Given the description of an element on the screen output the (x, y) to click on. 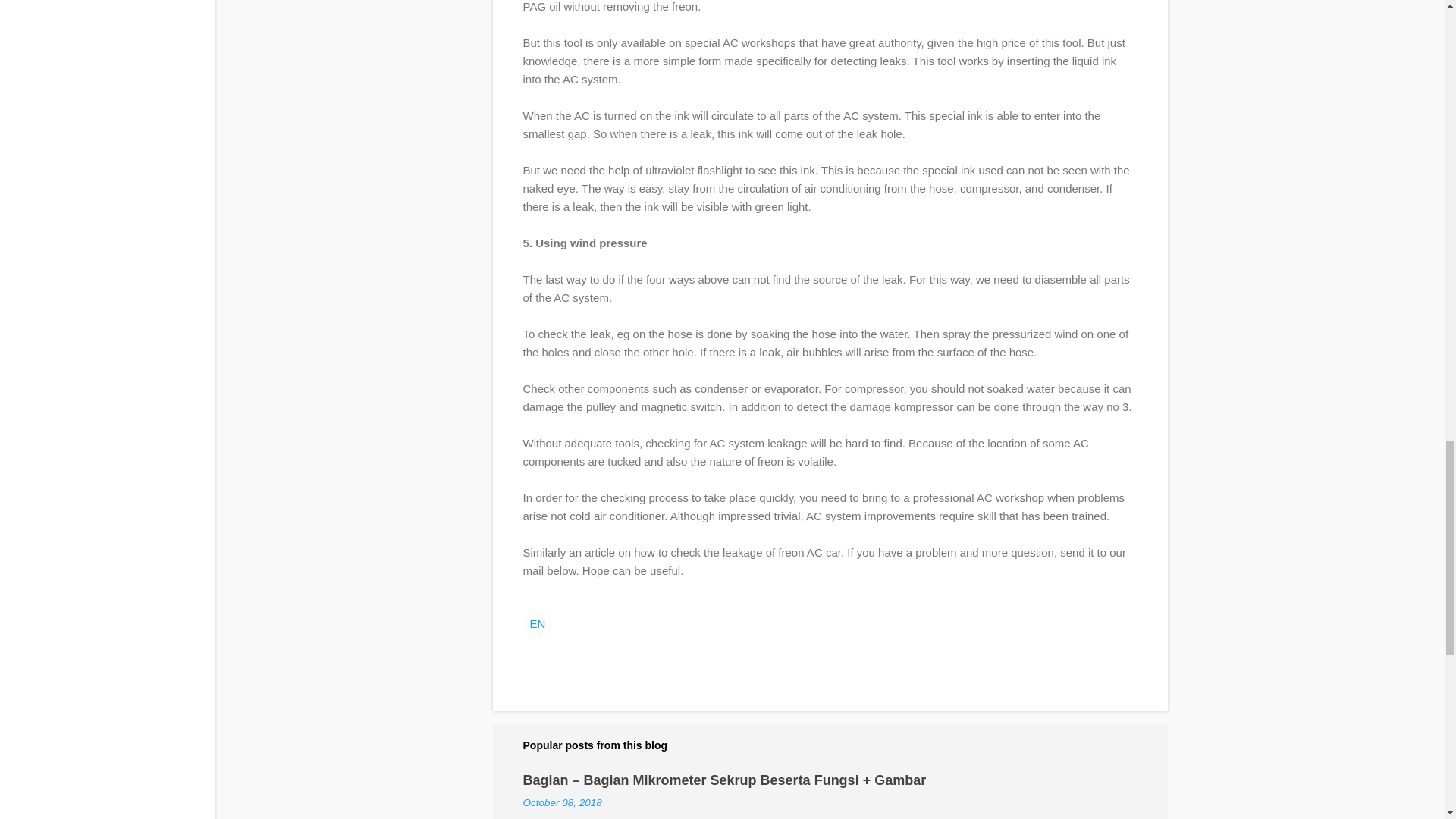
EN (537, 622)
October 08, 2018 (562, 802)
permanent link (562, 802)
